Given the description of an element on the screen output the (x, y) to click on. 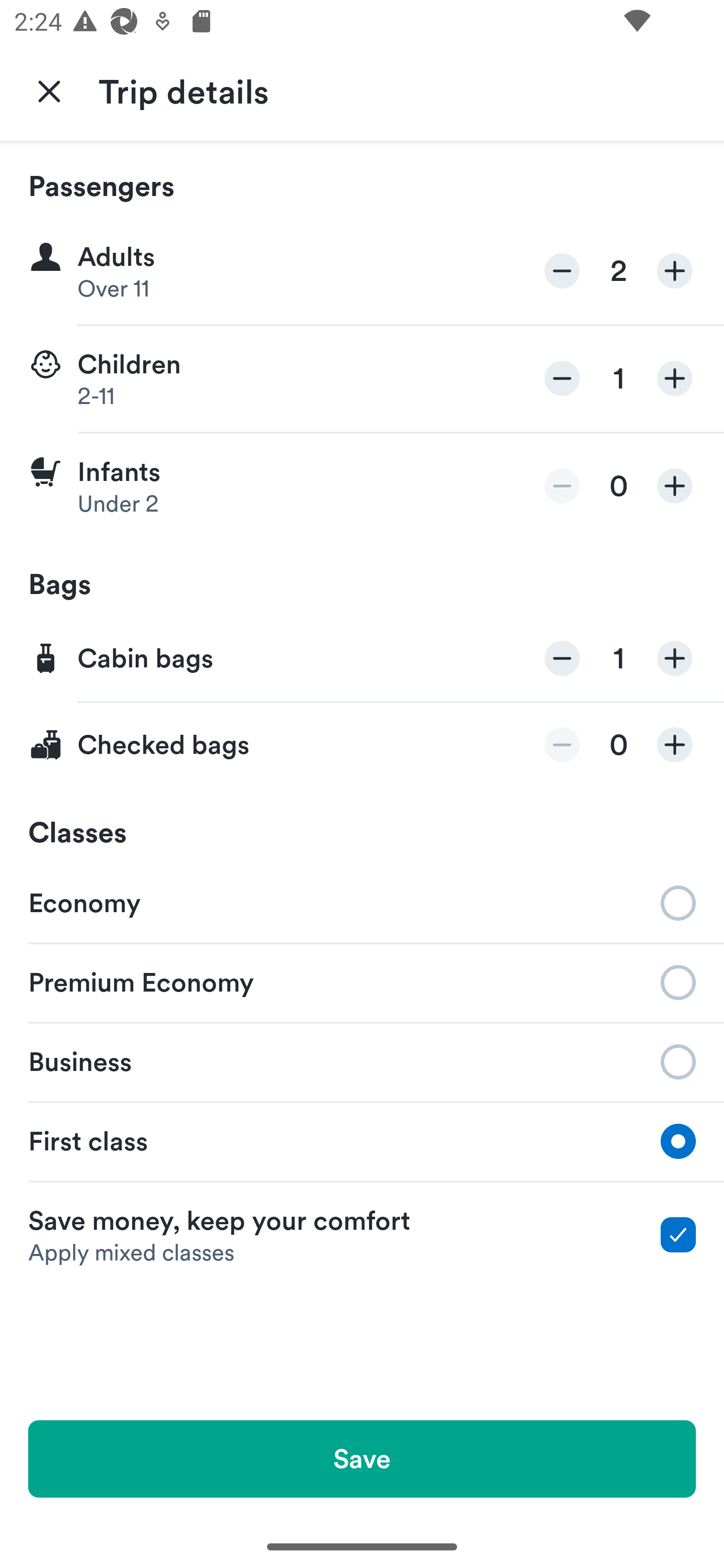
Navigate up (49, 90)
Remove 2 Add Adults Over 11 (362, 271)
Remove (561, 270)
Add (674, 270)
Remove 1 Add Children 2-11 (362, 379)
Remove (561, 377)
Add (674, 377)
Remove 0 Add Infants Under 2 (362, 485)
Remove (561, 485)
Add (674, 485)
Remove 1 Add Cabin bags (362, 659)
Remove (561, 658)
Add (674, 658)
Remove 0 Add Checked bags (362, 744)
Remove (561, 744)
Add (674, 744)
Economy (362, 901)
Premium Economy (362, 980)
Business (362, 1060)
Save (361, 1458)
